Given the description of an element on the screen output the (x, y) to click on. 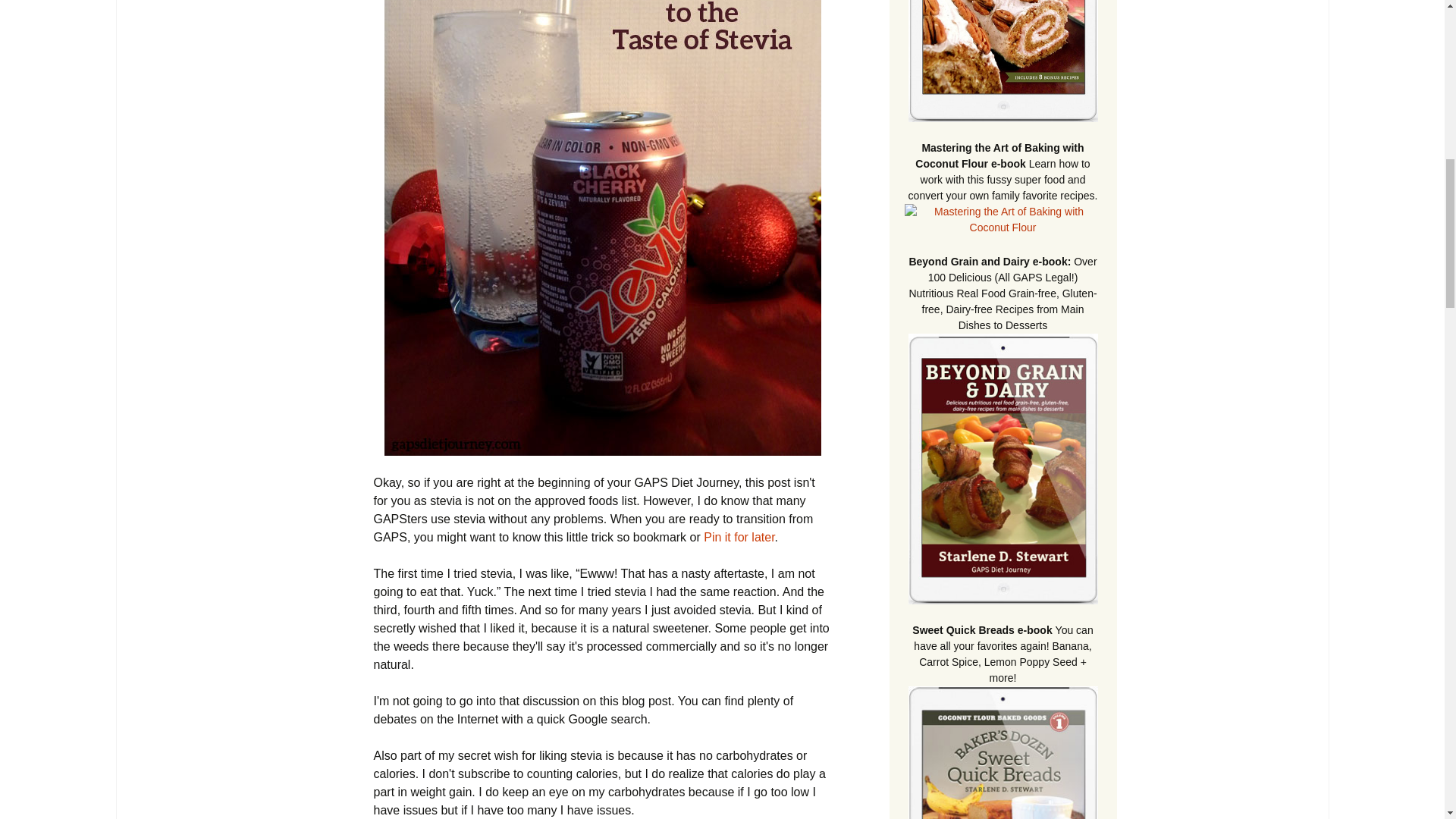
Pin it for later (738, 536)
